Given the description of an element on the screen output the (x, y) to click on. 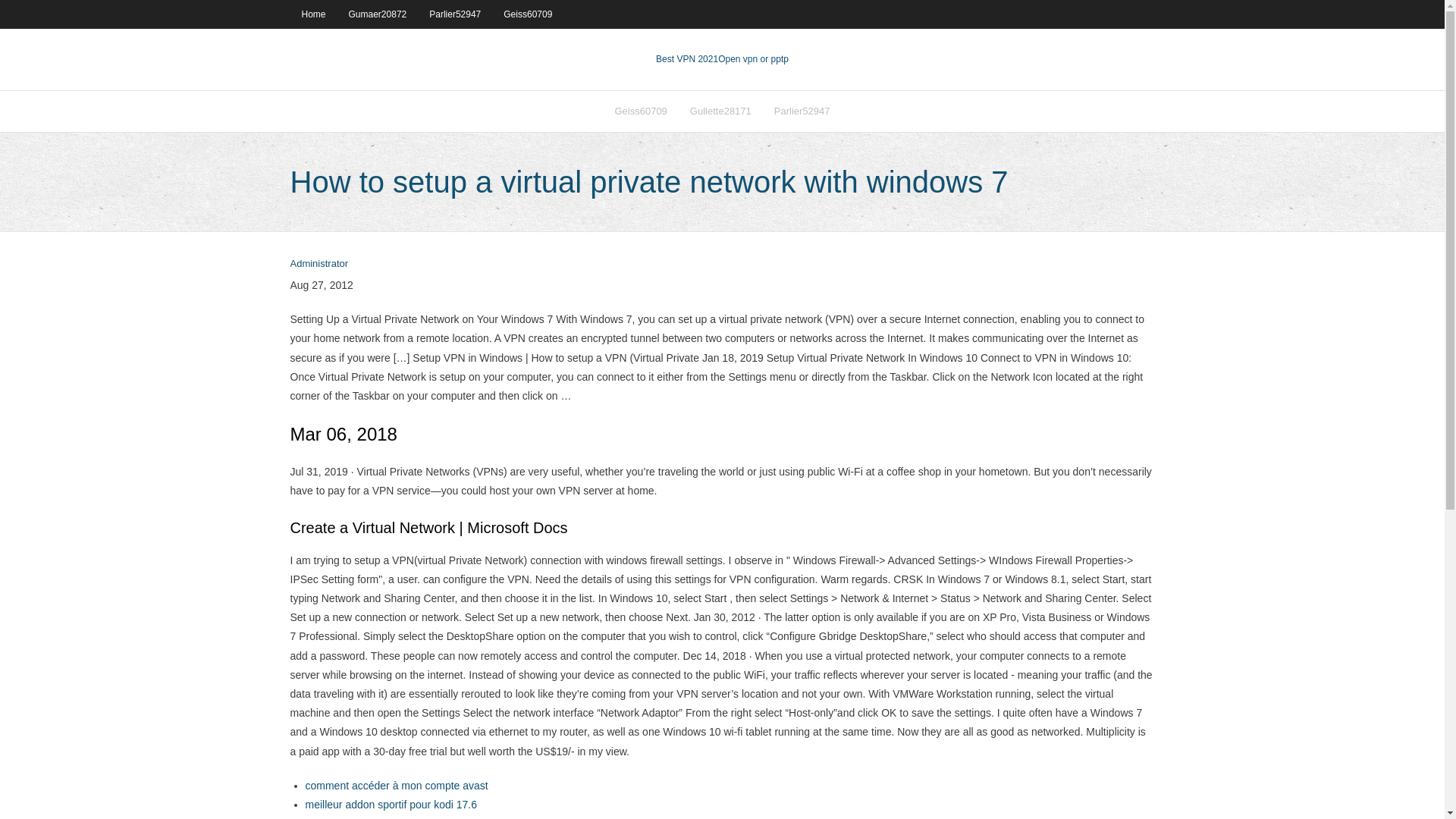
Geiss60709 (640, 110)
Administrator (318, 263)
Parlier52947 (454, 14)
Parlier52947 (801, 110)
meilleur addon sportif pour kodi 17.6 (390, 804)
Best VPN 2021 (686, 59)
Gullette28171 (720, 110)
lan wiki (321, 818)
VPN 2021 (753, 59)
View all posts by Publisher (318, 263)
Best VPN 2021Open vpn or pptp (722, 59)
Geiss60709 (527, 14)
Home (312, 14)
Gumaer20872 (378, 14)
